Given the description of an element on the screen output the (x, y) to click on. 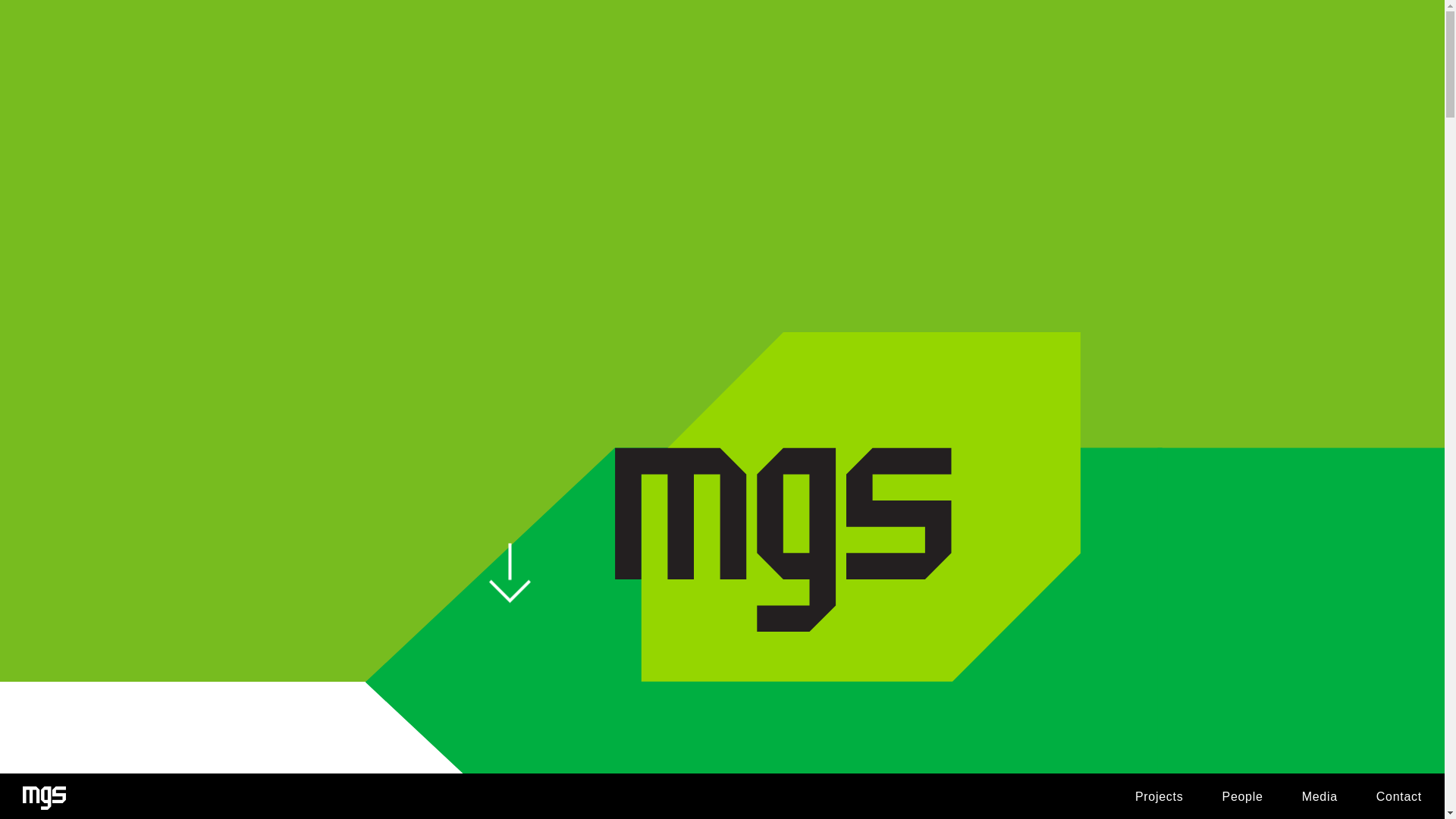
People (1241, 796)
Projects (1159, 796)
Media (1319, 796)
Contact (1398, 796)
Contact (1398, 796)
